Given the description of an element on the screen output the (x, y) to click on. 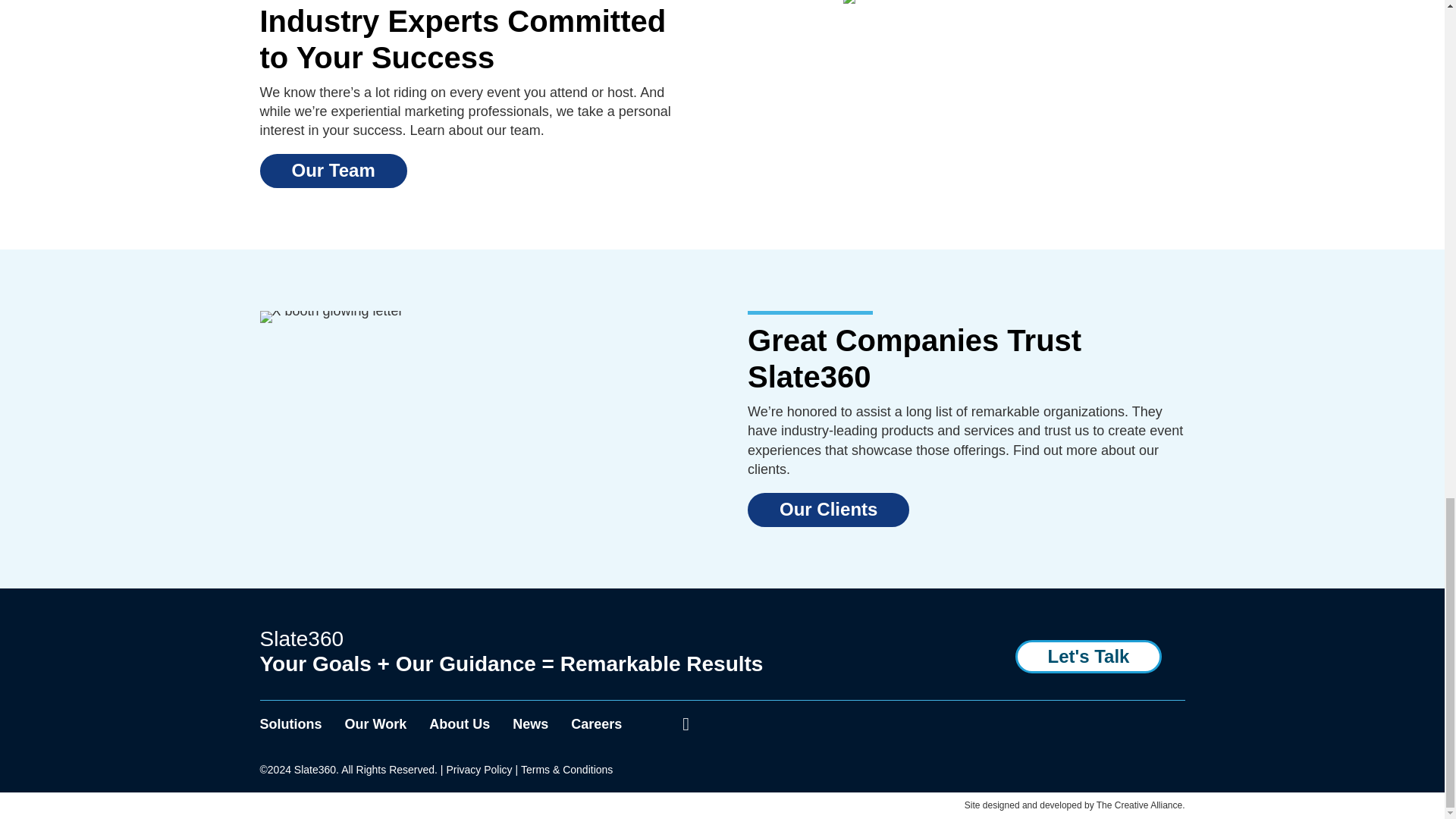
Privacy Policy (478, 769)
Site designed and developed by The Creative Alliance (1072, 805)
Careers (595, 724)
large-circle-xbooth (331, 310)
Our Work (376, 724)
News (530, 724)
Let's Talk (1087, 656)
Our Clients (828, 510)
About Us (459, 724)
Solutions (290, 724)
